Given the description of an element on the screen output the (x, y) to click on. 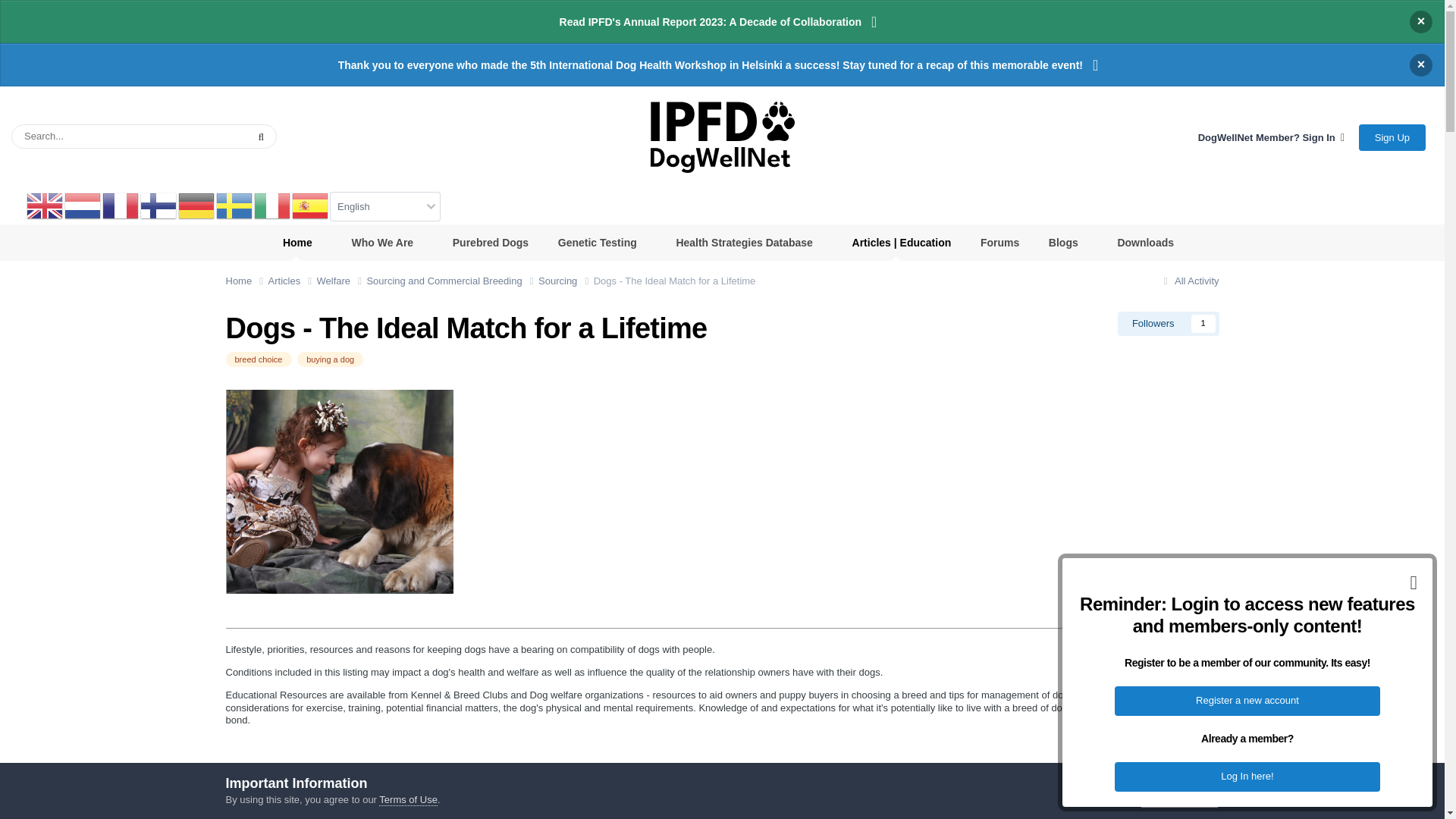
Log In here! (1247, 776)
Register a new account (1247, 700)
Sign Up (1391, 137)
Svenska (234, 205)
Home (246, 281)
Read IPFD's Annual Report 2023: A Decade of Collaboration (722, 21)
Sign in to follow this (1169, 323)
Nederlands (82, 205)
English (45, 205)
Find other content tagged with 'buying a dog' (329, 359)
DogWellNet Member? Sign In   (1270, 137)
Deutsch (196, 205)
Find other content tagged with 'breed choice' (258, 359)
Suomi (158, 205)
